Given the description of an element on the screen output the (x, y) to click on. 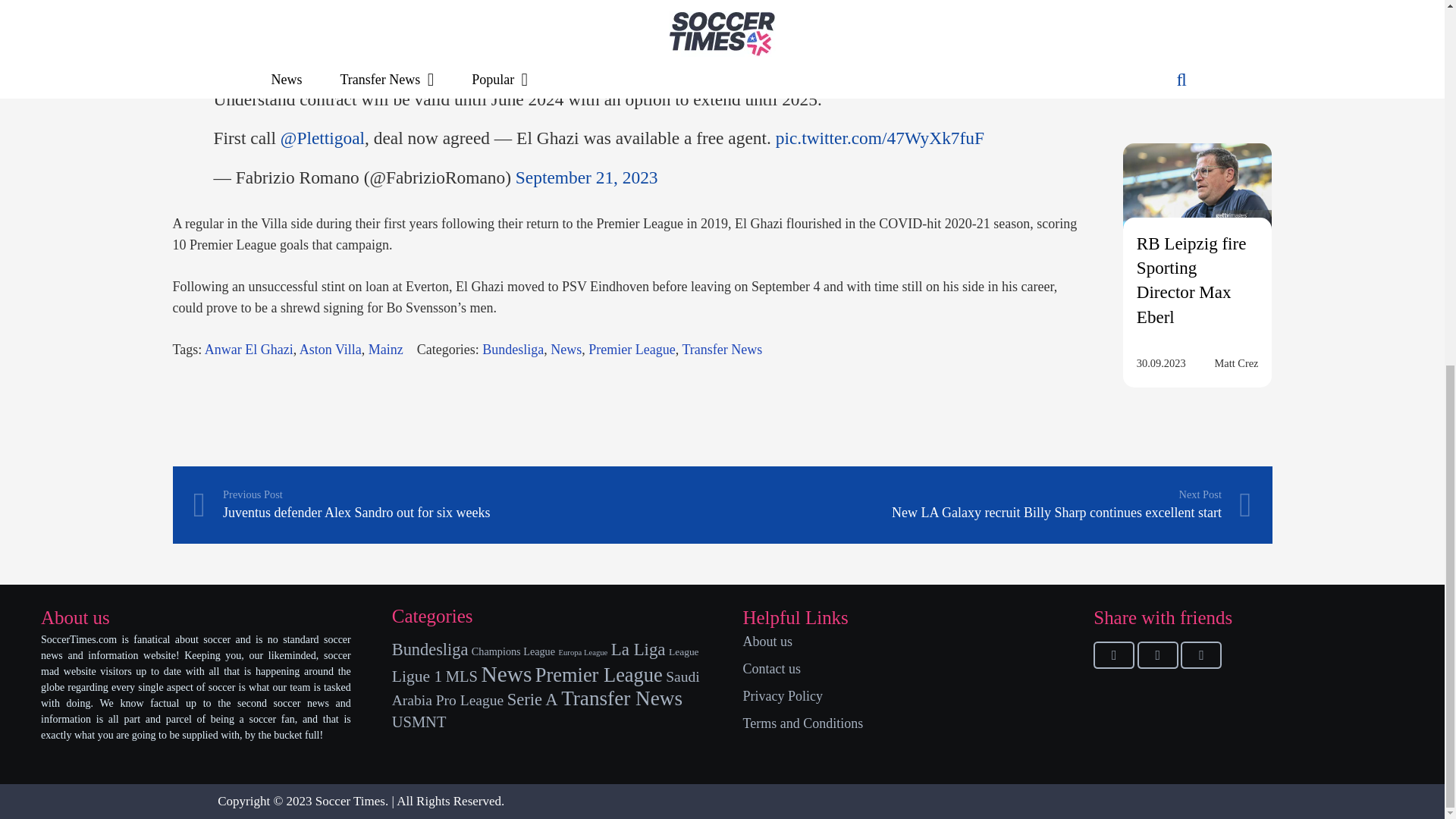
Anwar El Ghazi (249, 349)
Tags (385, 349)
New LA Galaxy recruit Billy Sharp continues excellent start (986, 505)
Mainz (385, 349)
Juventus defender Alex Sandro out for six weeks (457, 505)
Aston Villa (330, 349)
Tweet this (1157, 655)
Chelsea announce new front-of-shirt sponsor (1186, 12)
RB Leipzig fire Sporting Director Max Eberl (1197, 198)
Tags (330, 349)
